Given the description of an element on the screen output the (x, y) to click on. 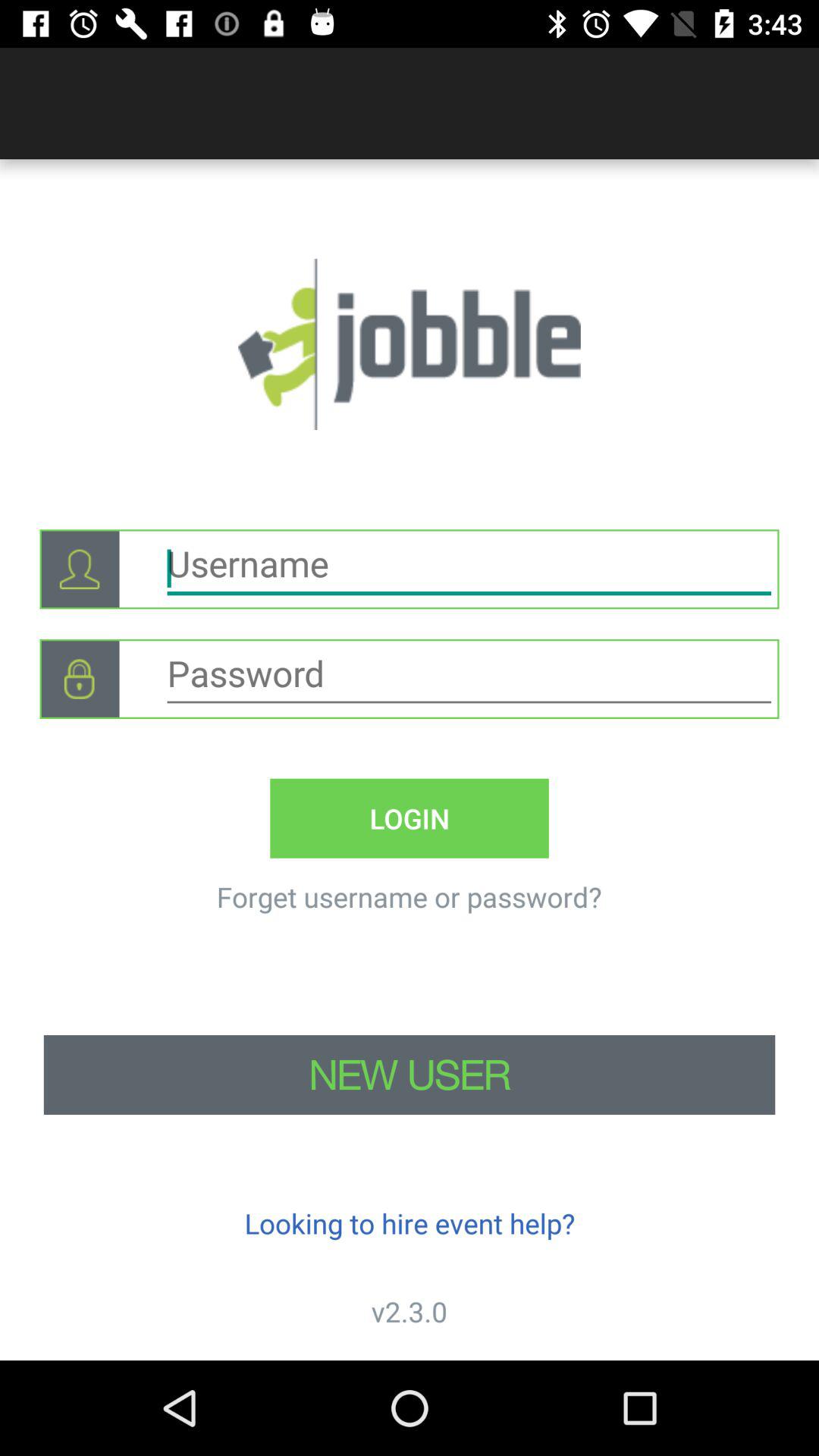
open the item below the looking to hire (409, 1311)
